Given the description of an element on the screen output the (x, y) to click on. 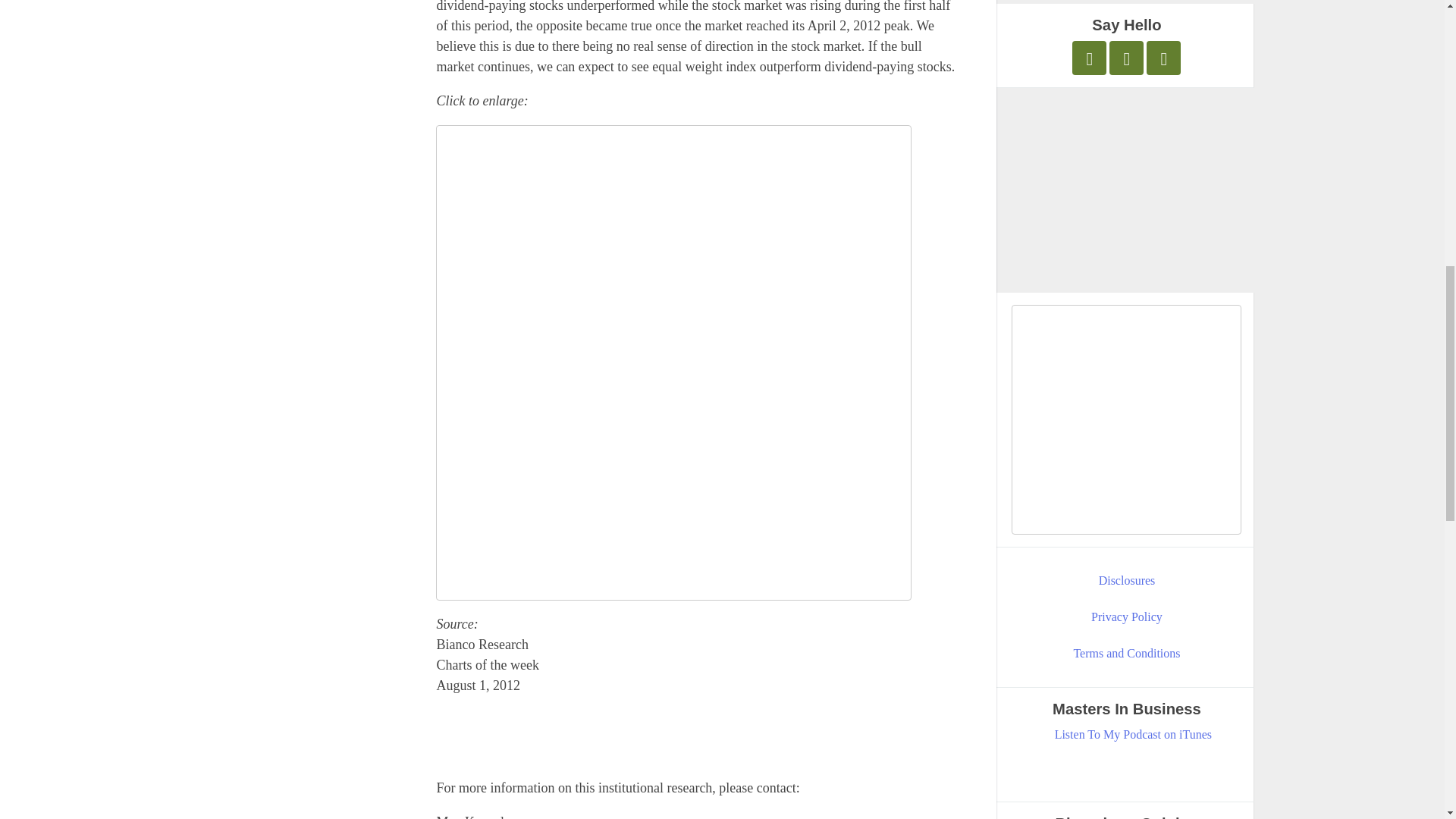
Terms and Conditions (1126, 653)
Twitter (1088, 57)
Facebook (1125, 57)
LinkedIn (1163, 57)
Listen To My Podcast on iTunes (1132, 734)
Disclosures (1126, 580)
Privacy Policy (1126, 617)
